Given the description of an element on the screen output the (x, y) to click on. 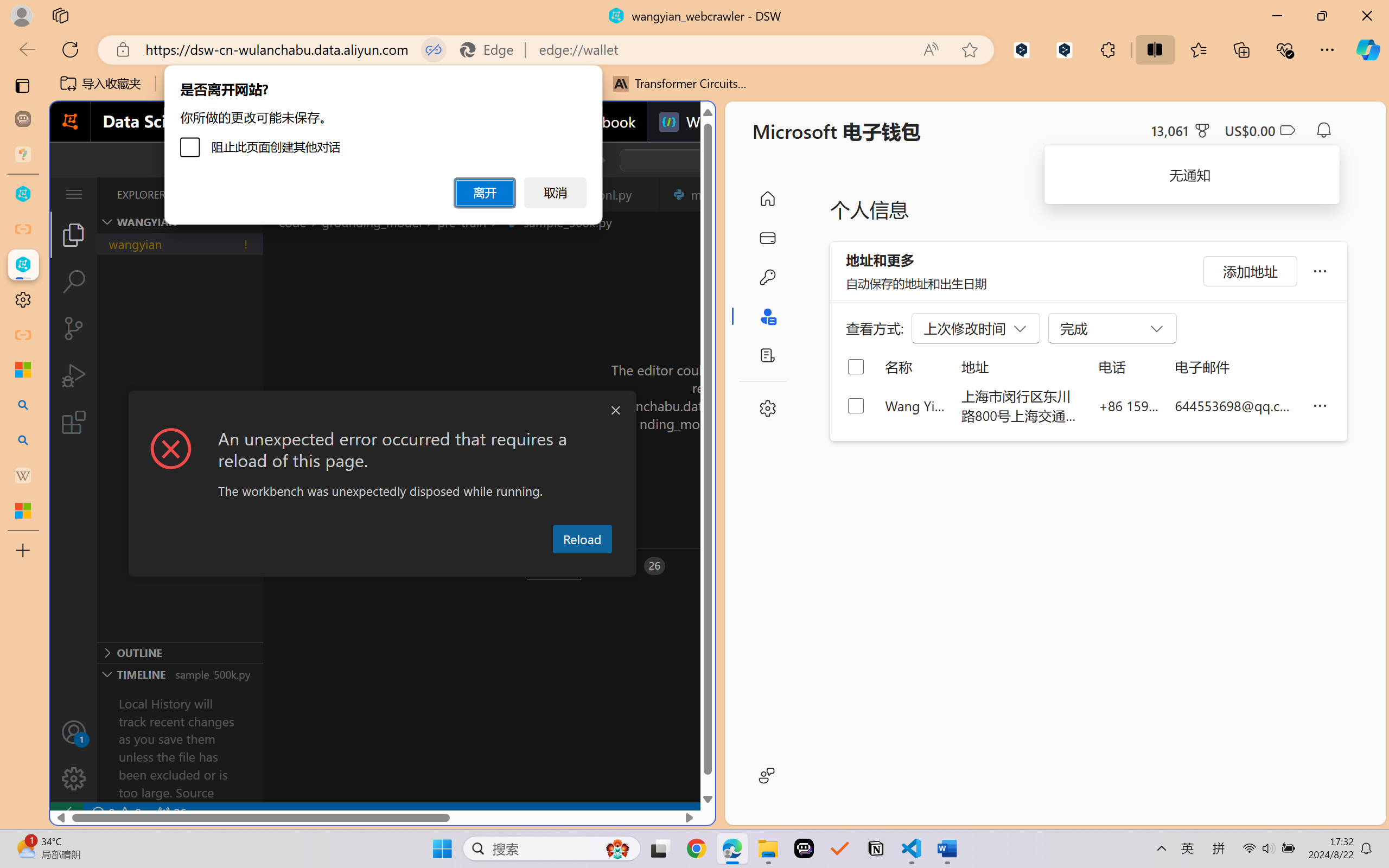
Explorer (Ctrl+Shift+E) (73, 234)
remote (66, 812)
